Given the description of an element on the screen output the (x, y) to click on. 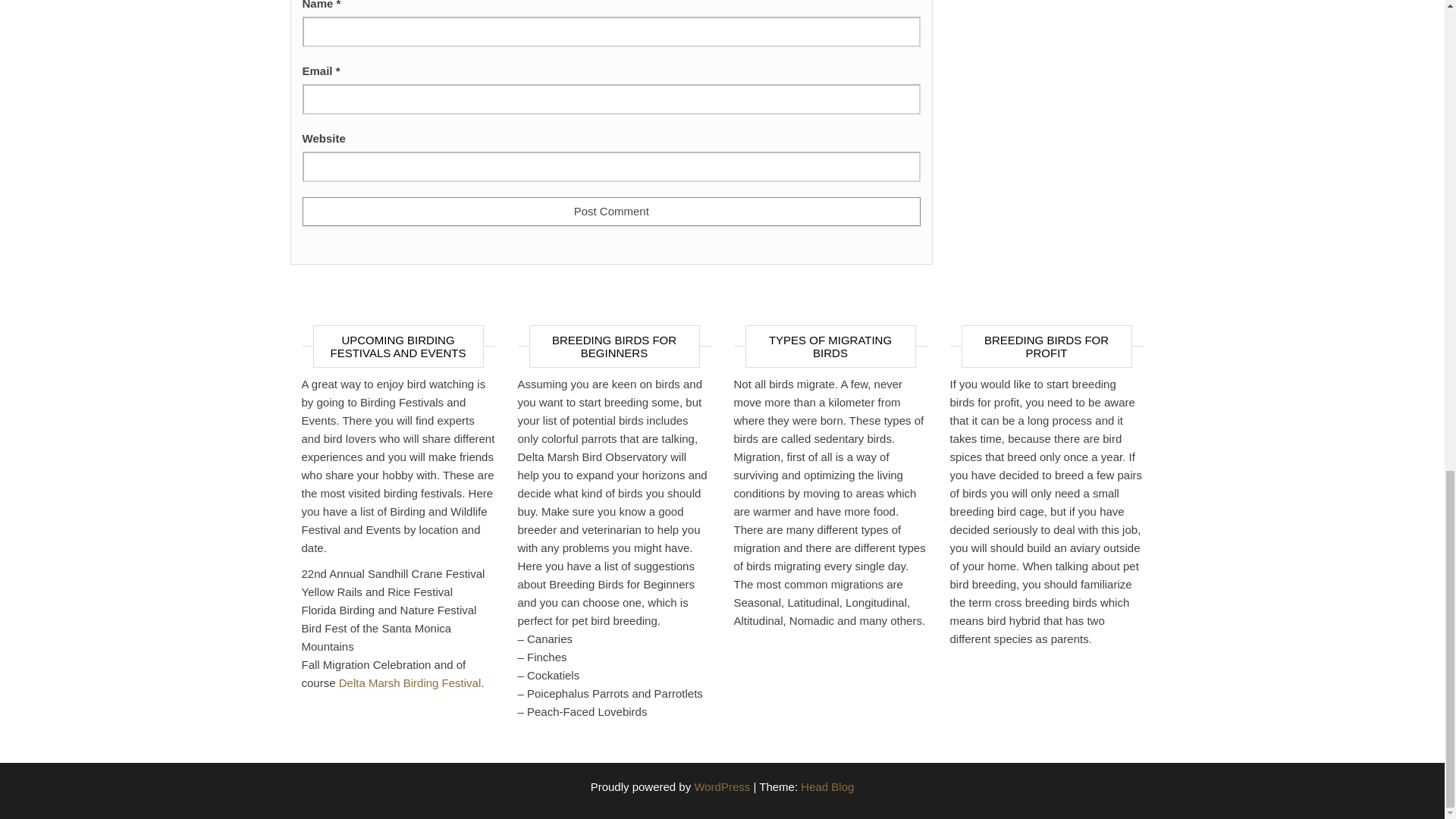
WordPress (721, 786)
Post Comment (610, 211)
Head Blog (826, 786)
Post Comment (610, 211)
Delta Marsh Birding Festival (410, 682)
